Given the description of an element on the screen output the (x, y) to click on. 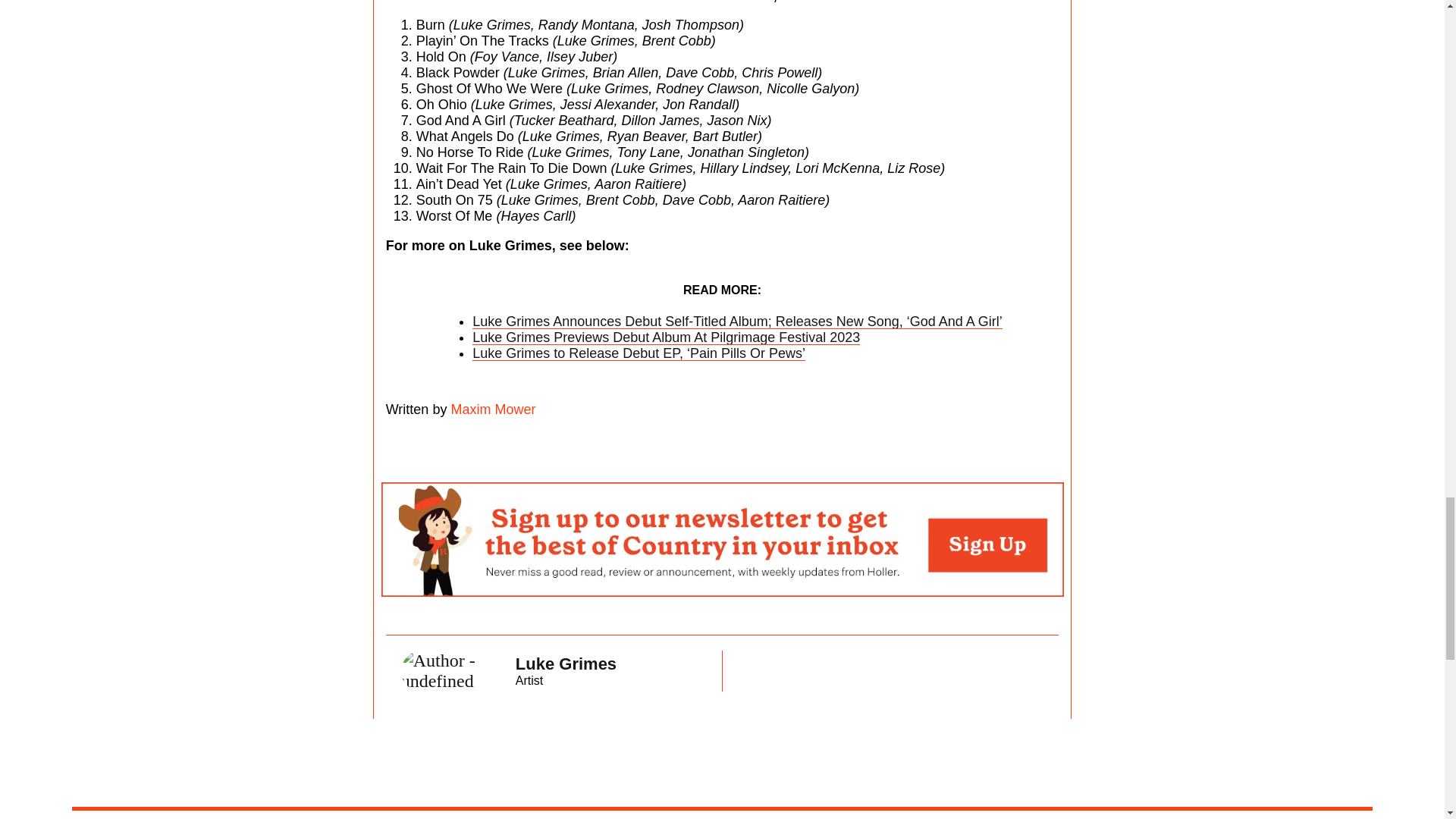
Maxim Mower (553, 670)
Luke Grimes Previews Debut Album At Pilgrimage Festival 2023 (490, 409)
